Given the description of an element on the screen output the (x, y) to click on. 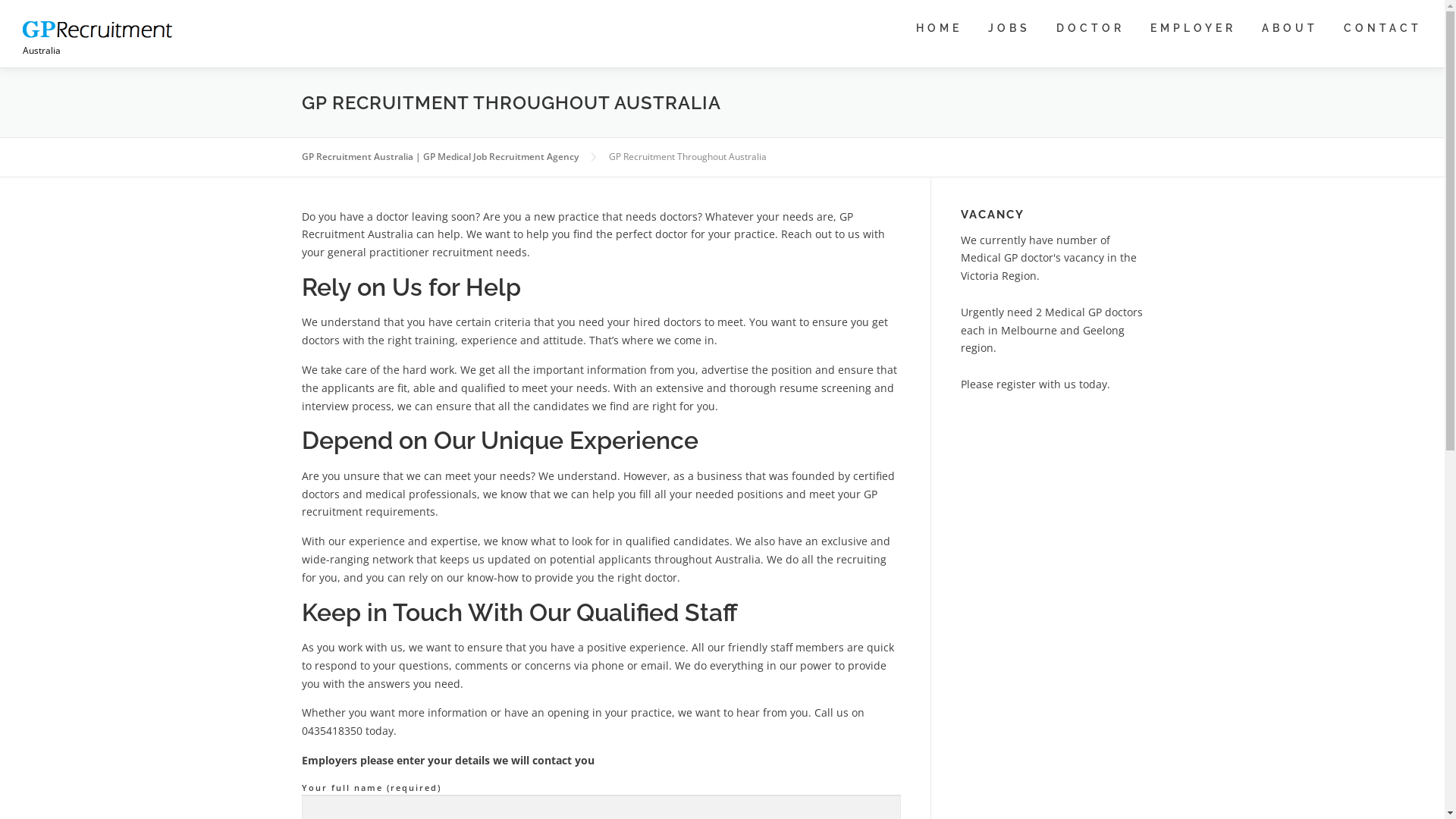
JOBS Element type: text (1009, 28)
GP Recruitment Australia | GP Medical Job Recruitment Agency Element type: text (439, 156)
Skip to content Element type: text (37, 9)
DOCTOR Element type: text (1090, 28)
EMPLOYER Element type: text (1192, 28)
CONTACT Element type: text (1375, 28)
ABOUT Element type: text (1289, 28)
HOME Element type: text (939, 28)
